Given the description of an element on the screen output the (x, y) to click on. 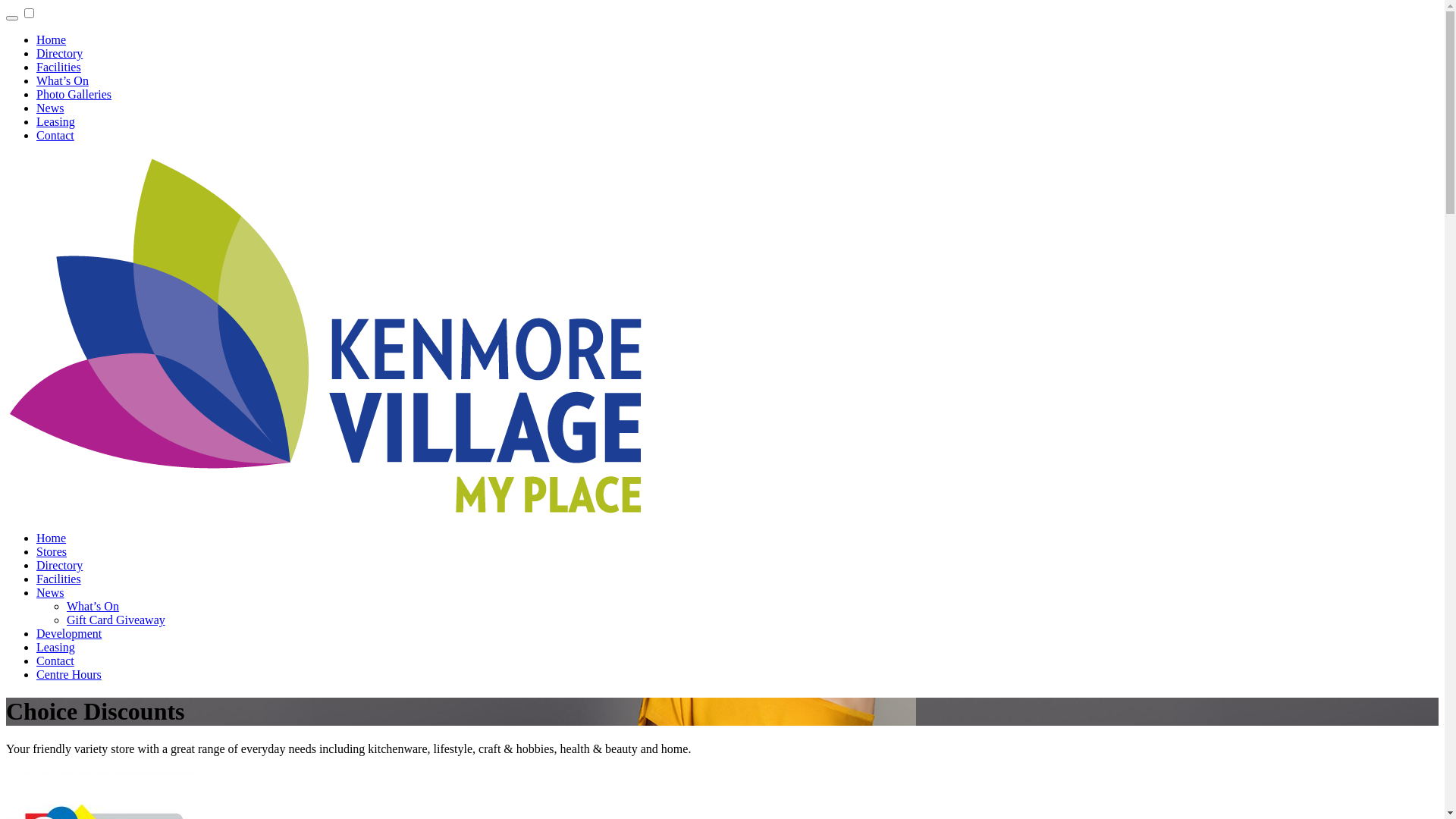
Home Element type: text (50, 537)
Leasing Element type: text (55, 121)
Stores Element type: text (51, 551)
Centre Hours Element type: text (68, 674)
Contact Element type: text (55, 660)
Directory Element type: text (59, 564)
Development Element type: text (68, 633)
Facilities Element type: text (58, 578)
Contact Element type: text (55, 134)
Photo Galleries Element type: text (73, 93)
News Element type: text (49, 107)
Directory Element type: text (59, 53)
Facilities Element type: text (58, 66)
Home Element type: text (50, 39)
News Element type: text (49, 592)
Gift Card Giveaway Element type: text (115, 619)
Leasing Element type: text (55, 646)
